Given the description of an element on the screen output the (x, y) to click on. 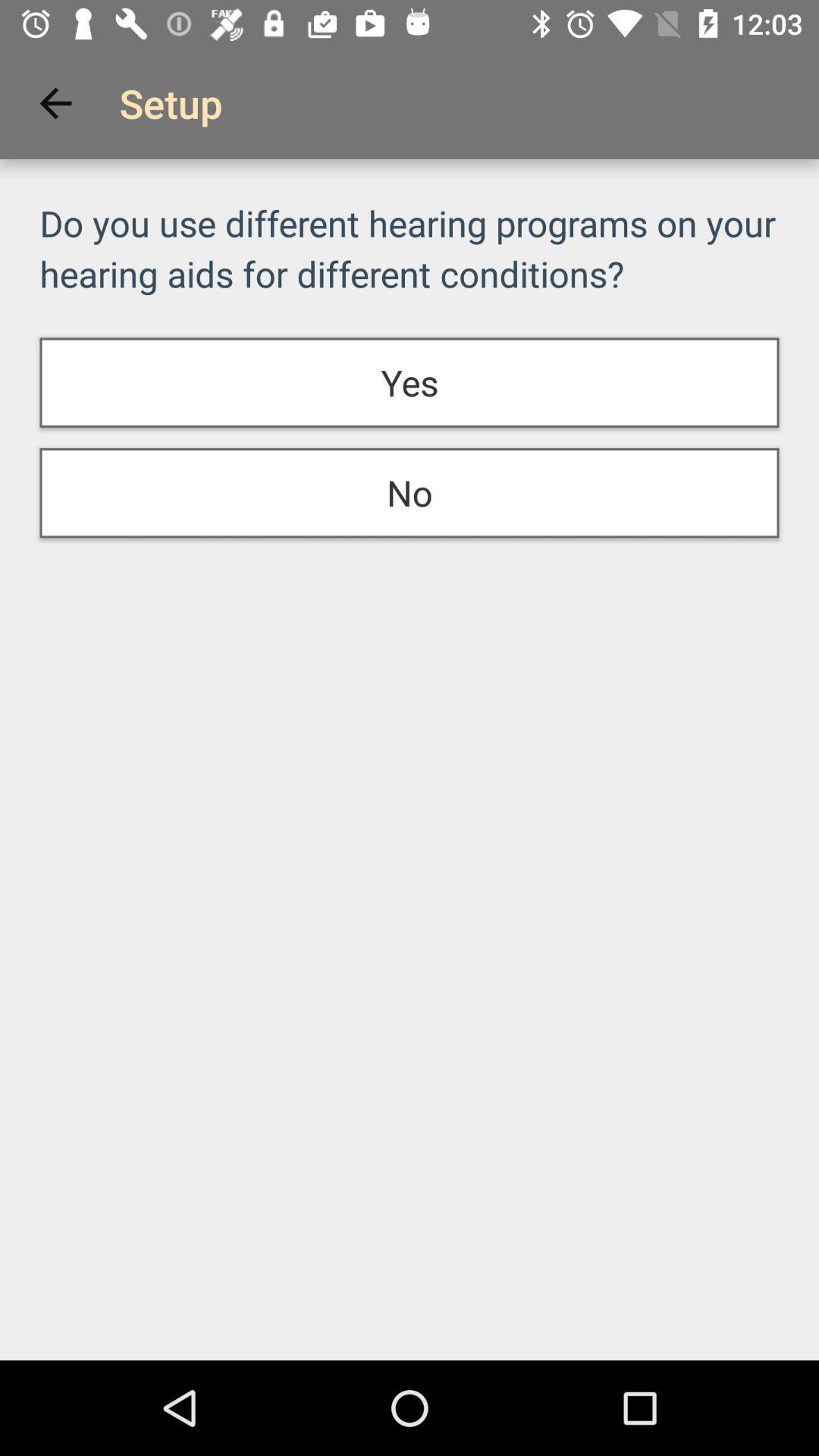
open app to the left of setup icon (55, 103)
